Given the description of an element on the screen output the (x, y) to click on. 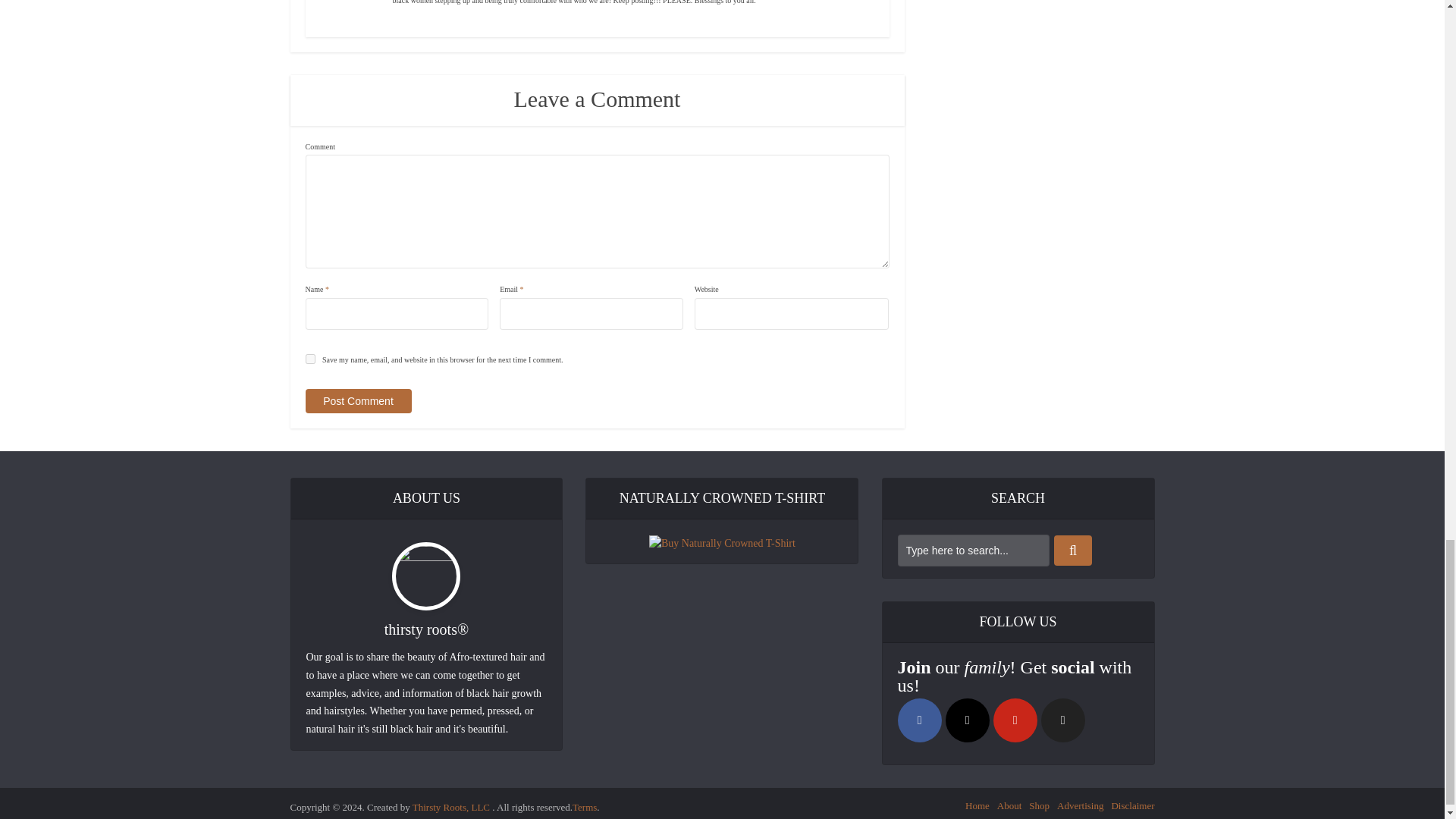
Post Comment (357, 401)
Facebook (920, 720)
Type here to search... (973, 550)
yes (309, 358)
Type here to search... (973, 550)
